Given the description of an element on the screen output the (x, y) to click on. 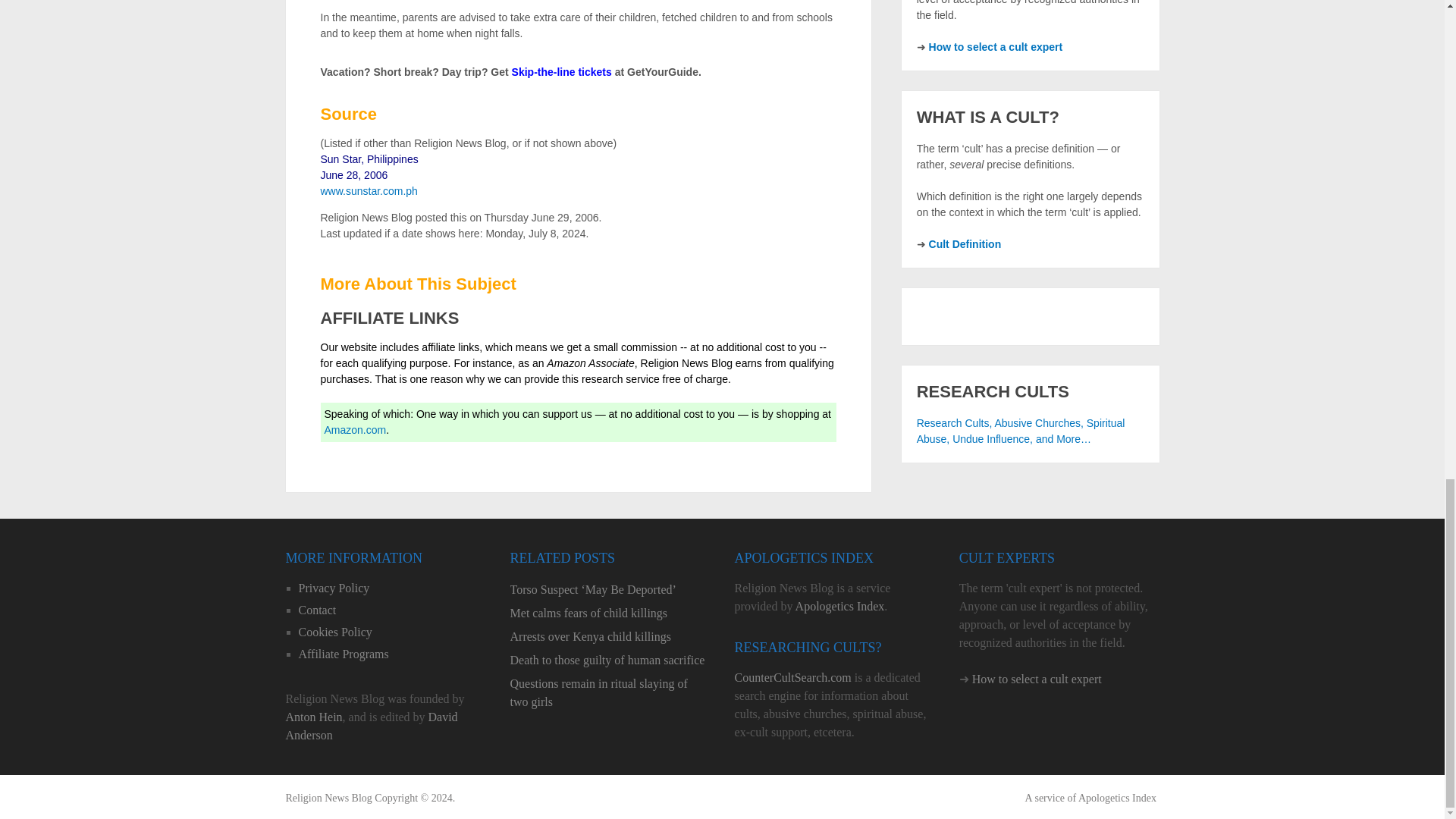
Amazon.com (355, 429)
Cult Definition (964, 244)
Met calms fears of child killings (610, 613)
Anton Hein (313, 716)
Arrests over Kenya child killings (610, 637)
How to select a cult expert (995, 46)
 Religion news: religious cults, sects, and world religions (328, 797)
David Anderson (371, 726)
Met calms fears of child killings (610, 613)
Questions remain in ritual slaying of two girls (610, 692)
